Given the description of an element on the screen output the (x, y) to click on. 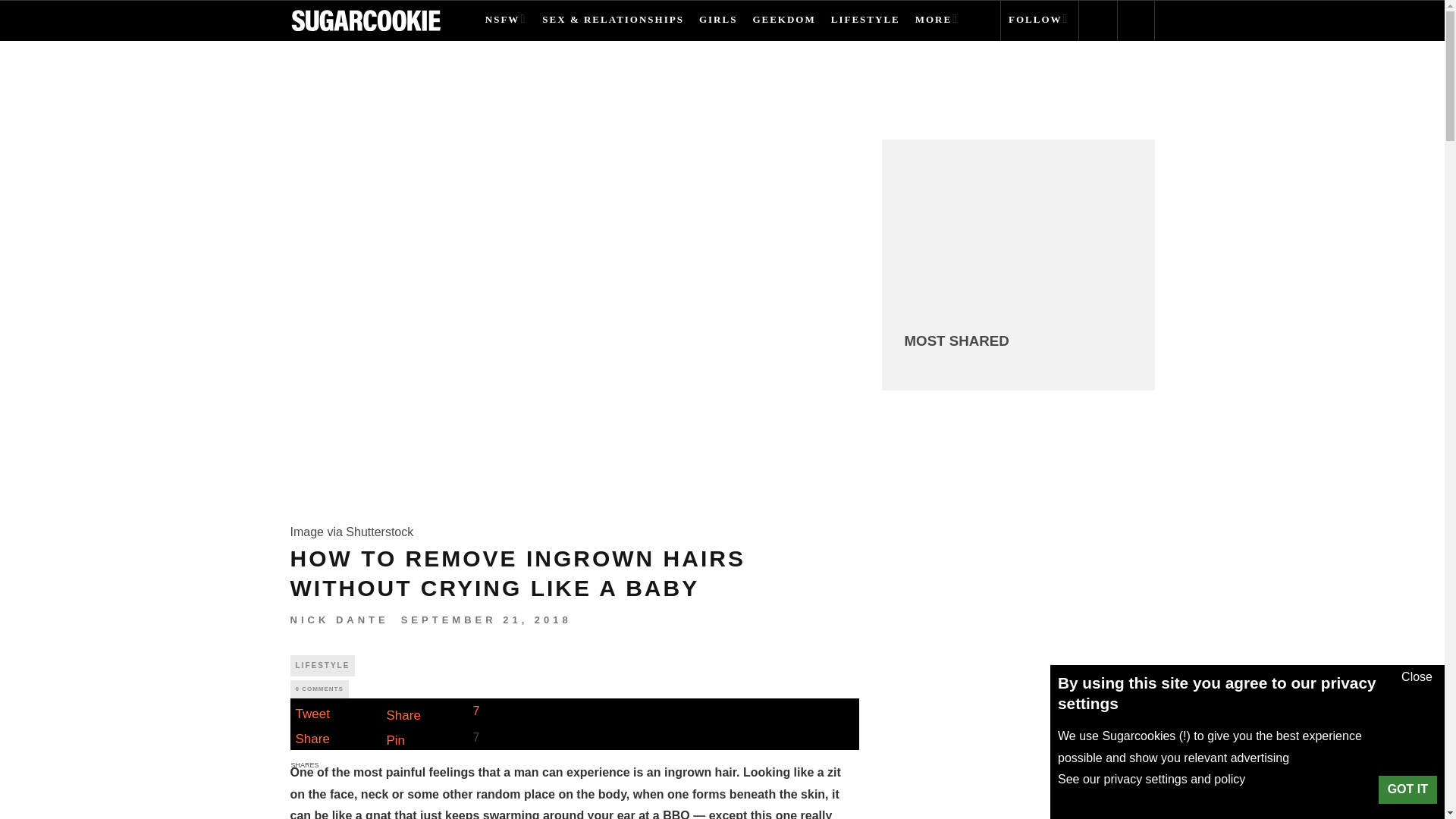
Newsletter Sign-up (994, 239)
View all posts in Lifestyle (322, 665)
LIFESTYLE (865, 20)
Search (22, 8)
NSFW (505, 20)
FOLLOW (1039, 20)
GEEKDOM (783, 20)
GIRLS (717, 20)
MORE (937, 20)
